Given the description of an element on the screen output the (x, y) to click on. 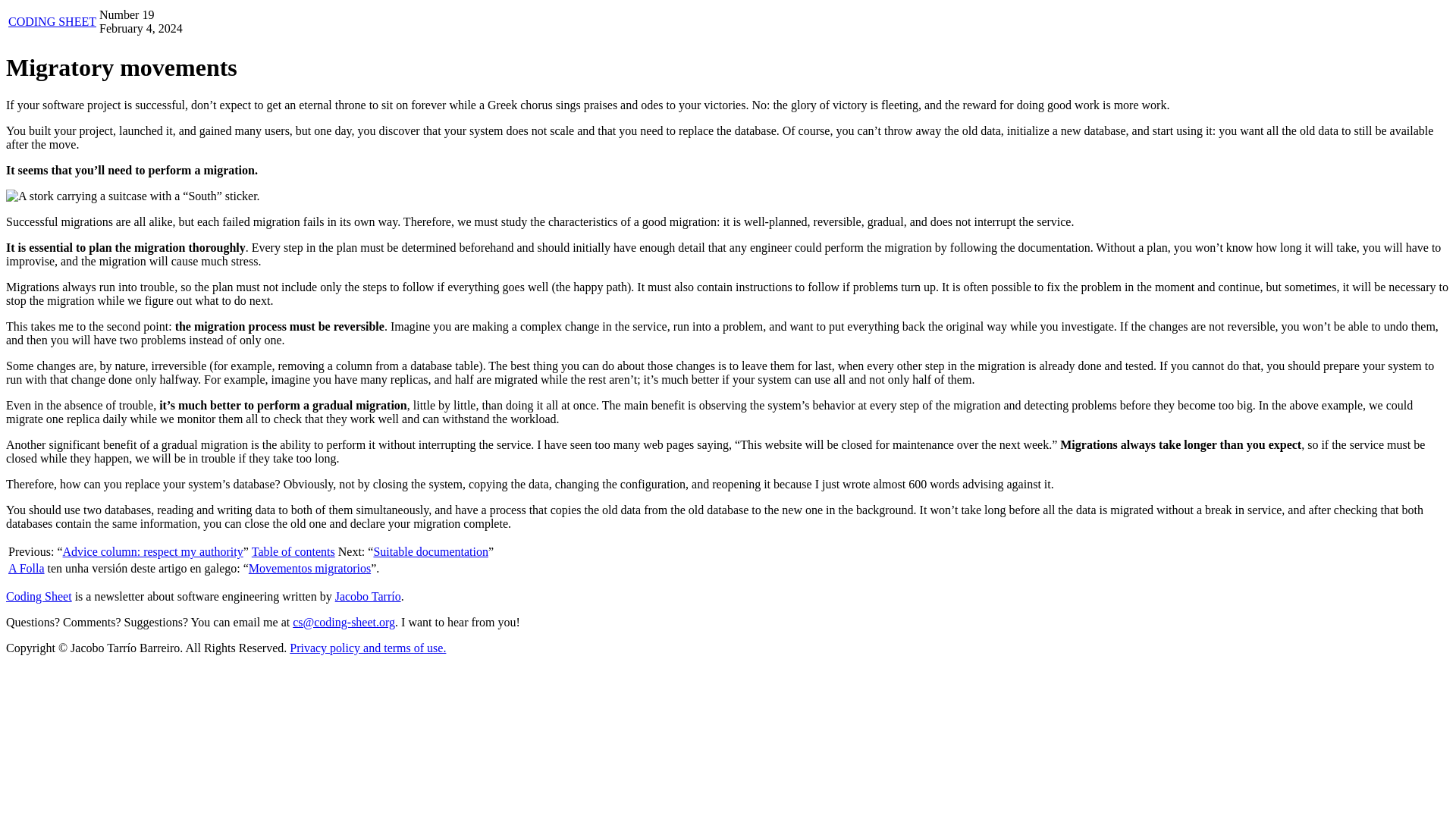
Suitable documentation (429, 551)
Table of contents (292, 551)
Coding Sheet (38, 595)
CODING SHEET (52, 21)
Advice column: respect my authority (152, 551)
Movementos migratorios (309, 567)
A Folla (26, 567)
